Given the description of an element on the screen output the (x, y) to click on. 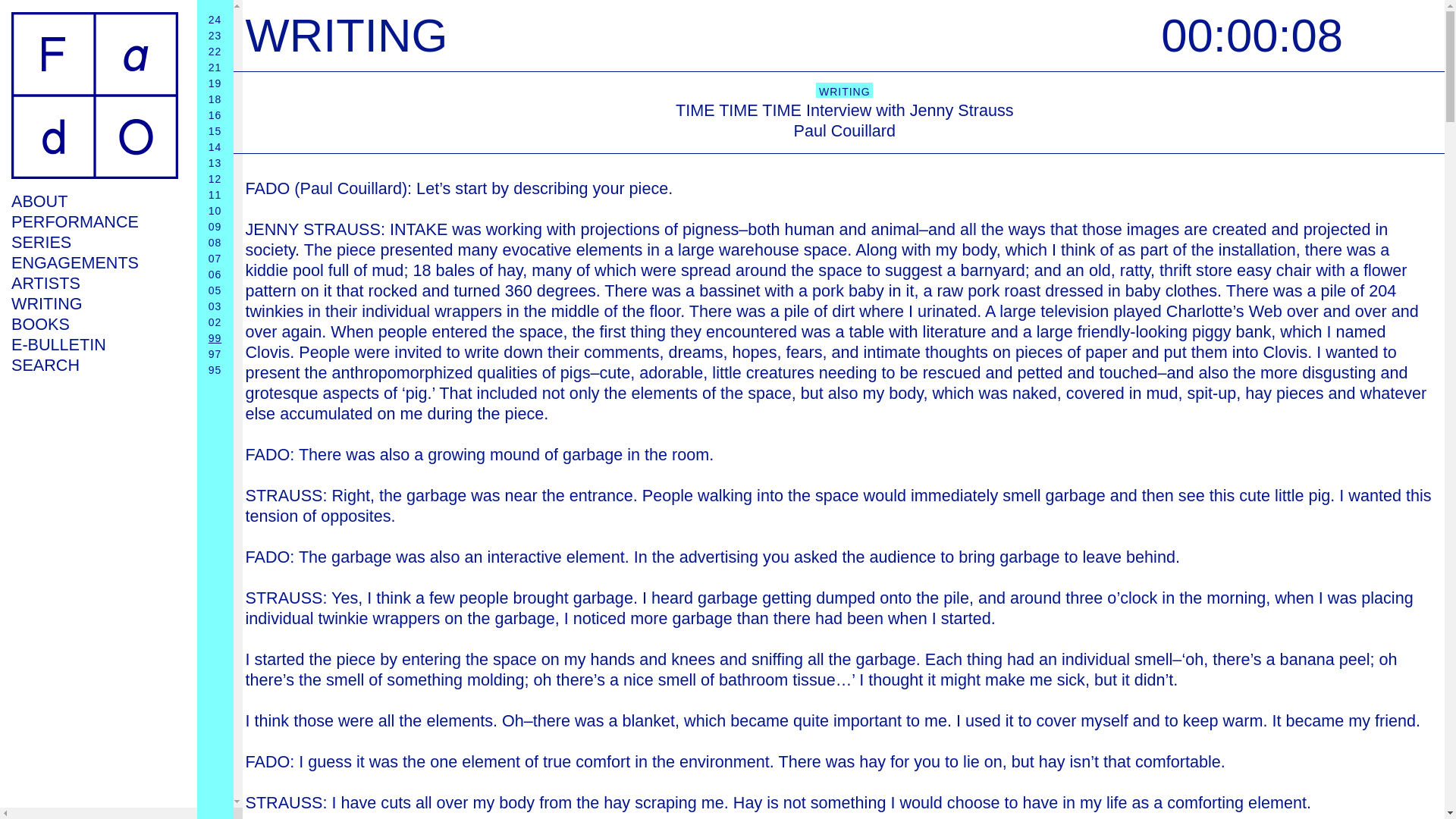
E-BULLETIN (94, 344)
11 (215, 194)
23 (215, 35)
16 (215, 114)
ENGAGEMENTS (94, 262)
24 (215, 19)
21 (215, 67)
08 (215, 242)
ARTISTS (94, 282)
10 (215, 210)
07 (215, 258)
13 (215, 162)
22 (215, 51)
06 (215, 274)
19 (215, 82)
